Given the description of an element on the screen output the (x, y) to click on. 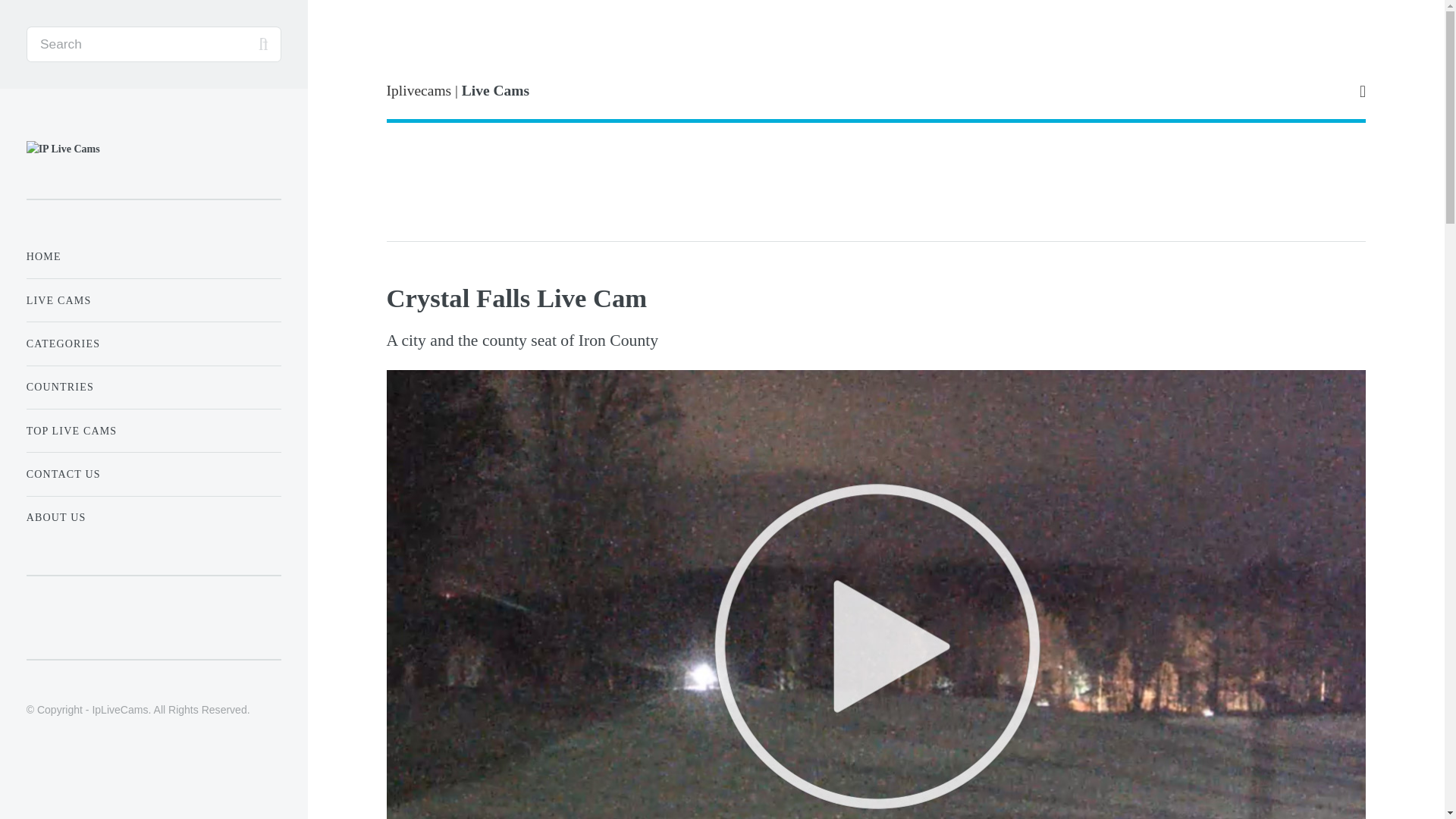
TOP LIVE CAMS (153, 430)
HOME (153, 256)
LIVE CAMS (153, 300)
COUNTRIES (153, 386)
CATEGORIES (153, 343)
ABOUT US (153, 517)
IP Live Cams (63, 148)
CONTACT US (153, 473)
